Given the description of an element on the screen output the (x, y) to click on. 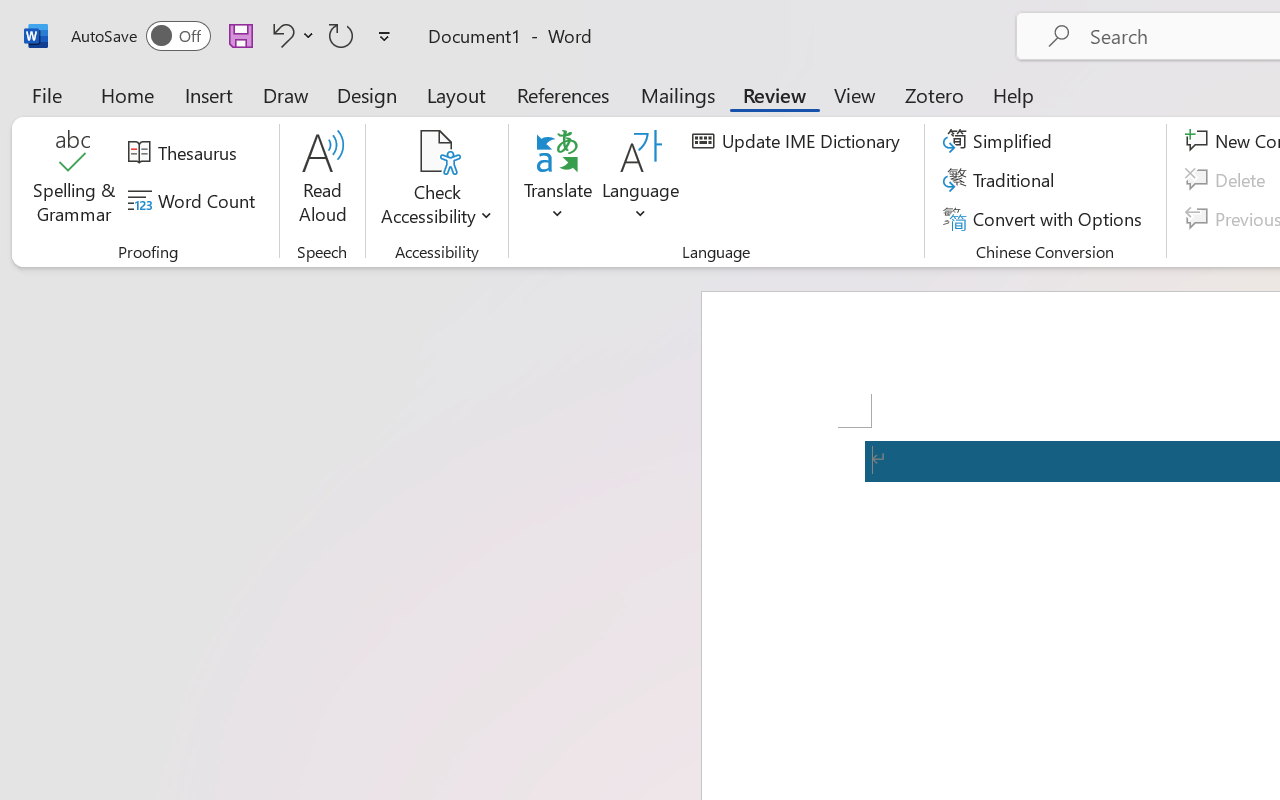
Thesaurus... (185, 153)
Undo Apply Quick Style Set (280, 35)
Repeat Style (341, 35)
Simplified (1000, 141)
Spelling & Grammar (74, 180)
Language (641, 179)
Word Count (194, 201)
Update IME Dictionary... (799, 141)
